Given the description of an element on the screen output the (x, y) to click on. 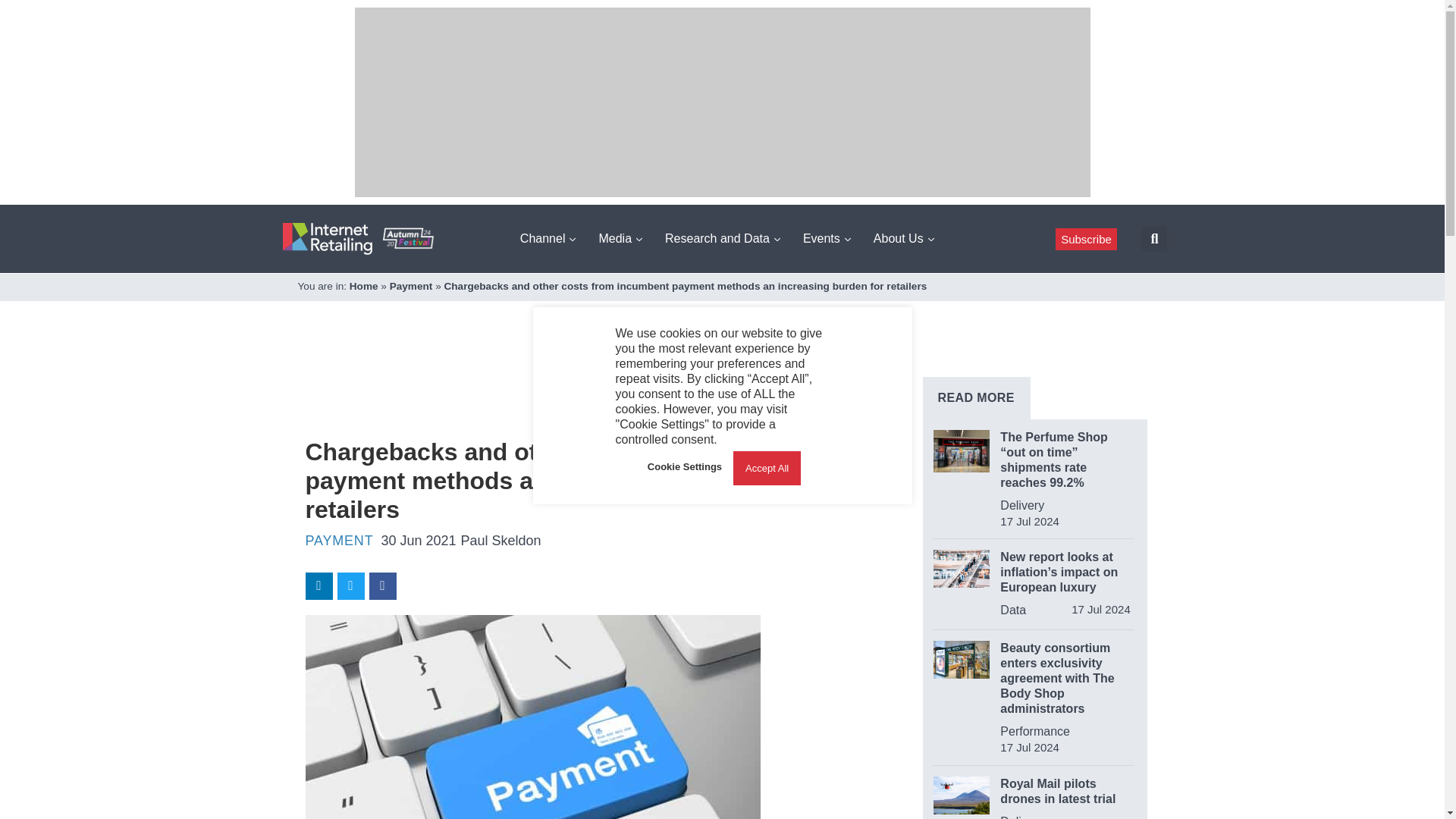
Channel (547, 238)
Research and Data (722, 238)
3rd party ad content (580, 387)
Media (620, 238)
